Given the description of an element on the screen output the (x, y) to click on. 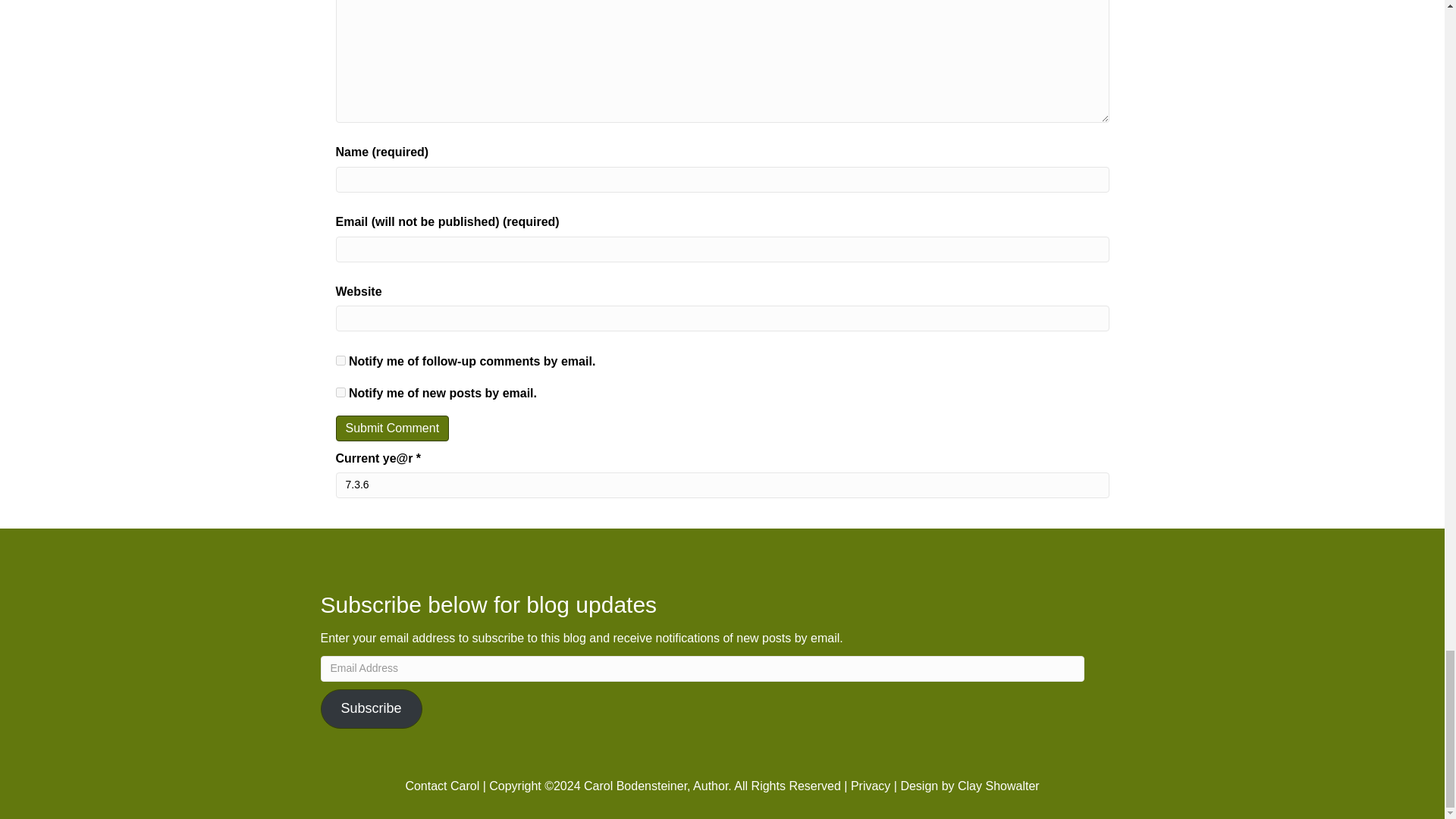
7.3.6 (721, 484)
subscribe (339, 392)
Submit Comment (391, 427)
subscribe (339, 360)
